Given the description of an element on the screen output the (x, y) to click on. 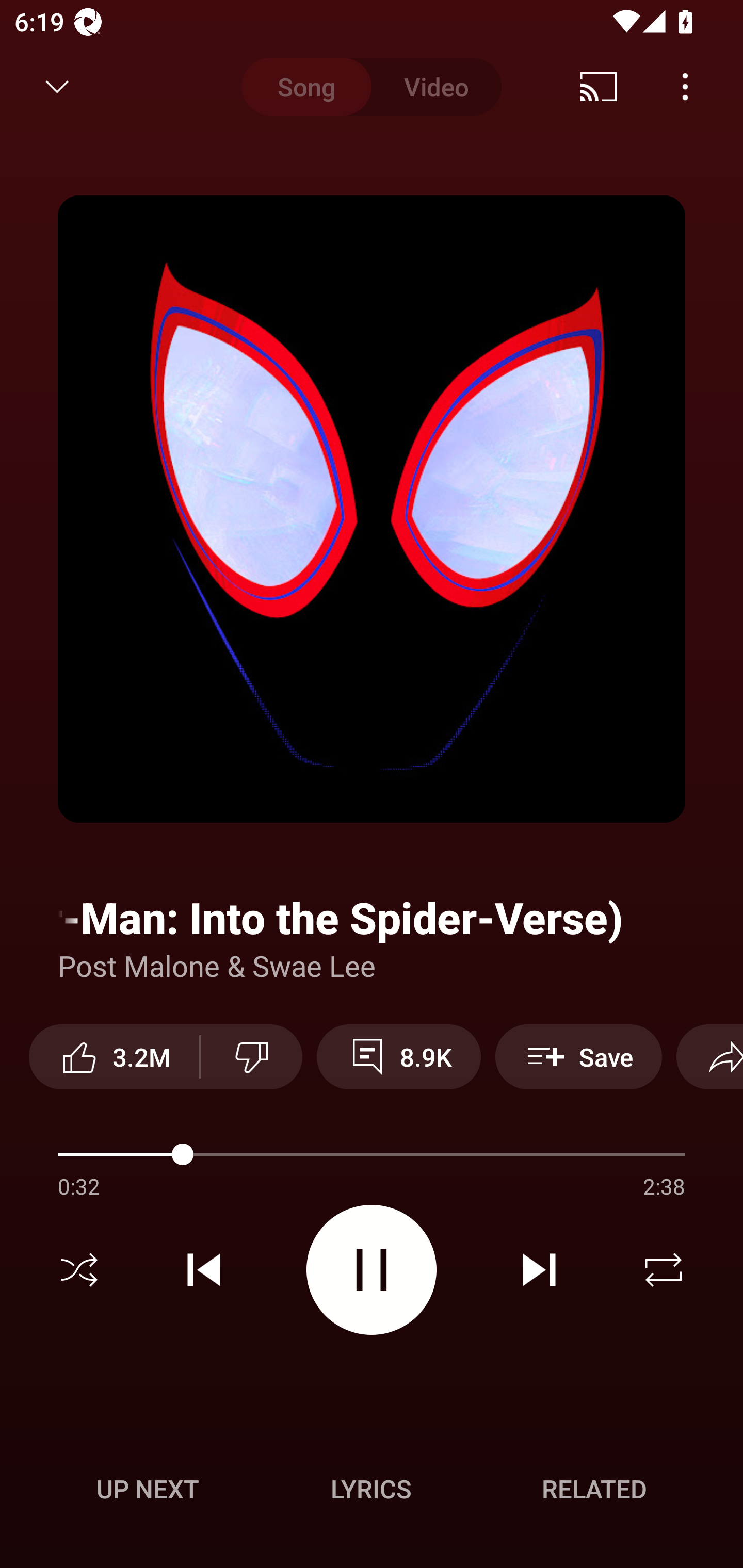
Minimize (57, 86)
Cast. Disconnected (598, 86)
Menu (684, 86)
Dislike (251, 1056)
8.9K View 8,905 comments (398, 1056)
Save Save to playlist (578, 1056)
Share (709, 1056)
Pause video (371, 1269)
Shuffle off (79, 1269)
Previous track (203, 1269)
Next track (538, 1269)
Repeat off (663, 1269)
Up next UP NEXT Lyrics LYRICS Related RELATED (371, 1491)
Lyrics LYRICS (370, 1488)
Related RELATED (594, 1488)
